Given the description of an element on the screen output the (x, y) to click on. 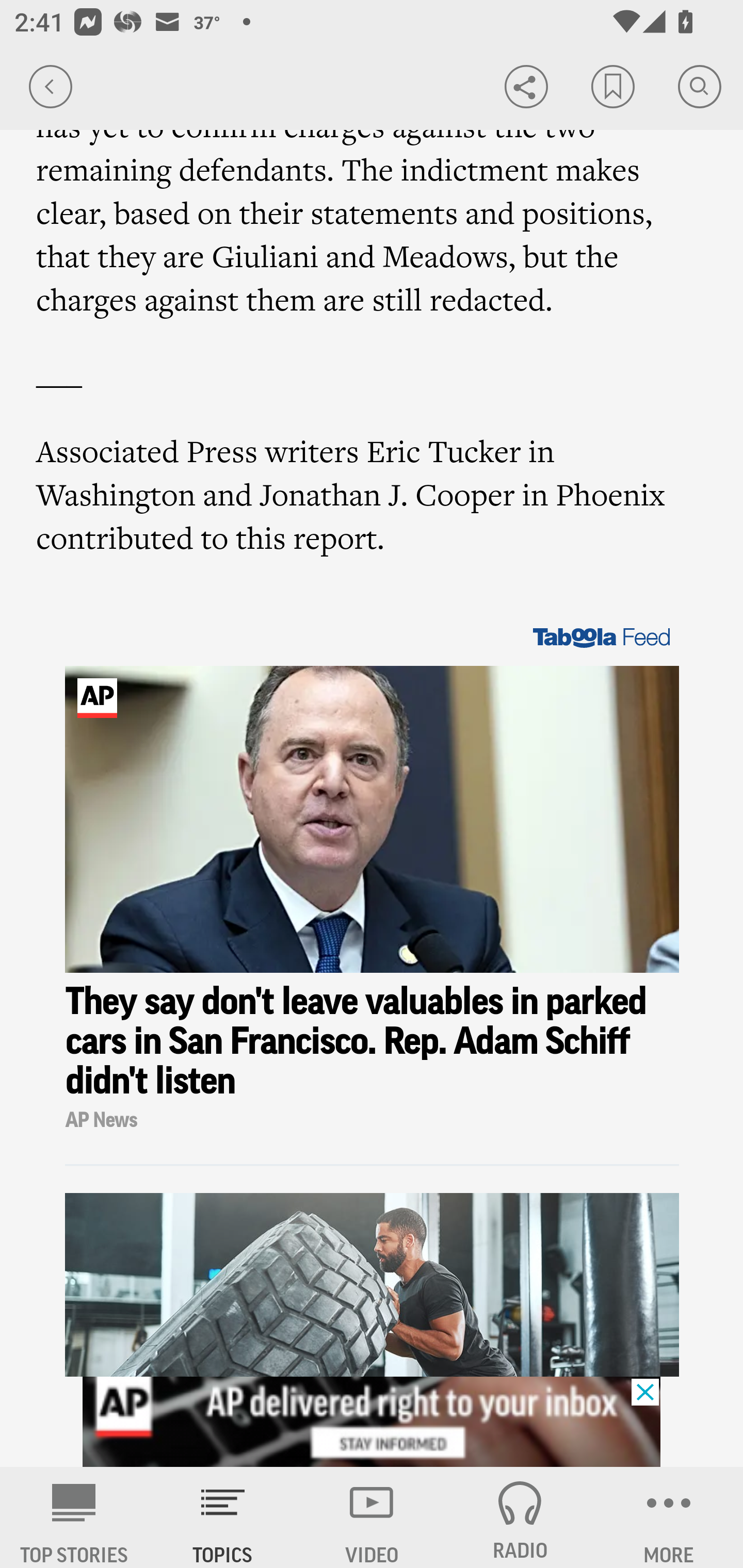
Image for Taboola Advertising Unit (372, 819)
AP News TOP STORIES (74, 1517)
TOPICS (222, 1517)
VIDEO (371, 1517)
RADIO (519, 1517)
MORE (668, 1517)
